Given the description of an element on the screen output the (x, y) to click on. 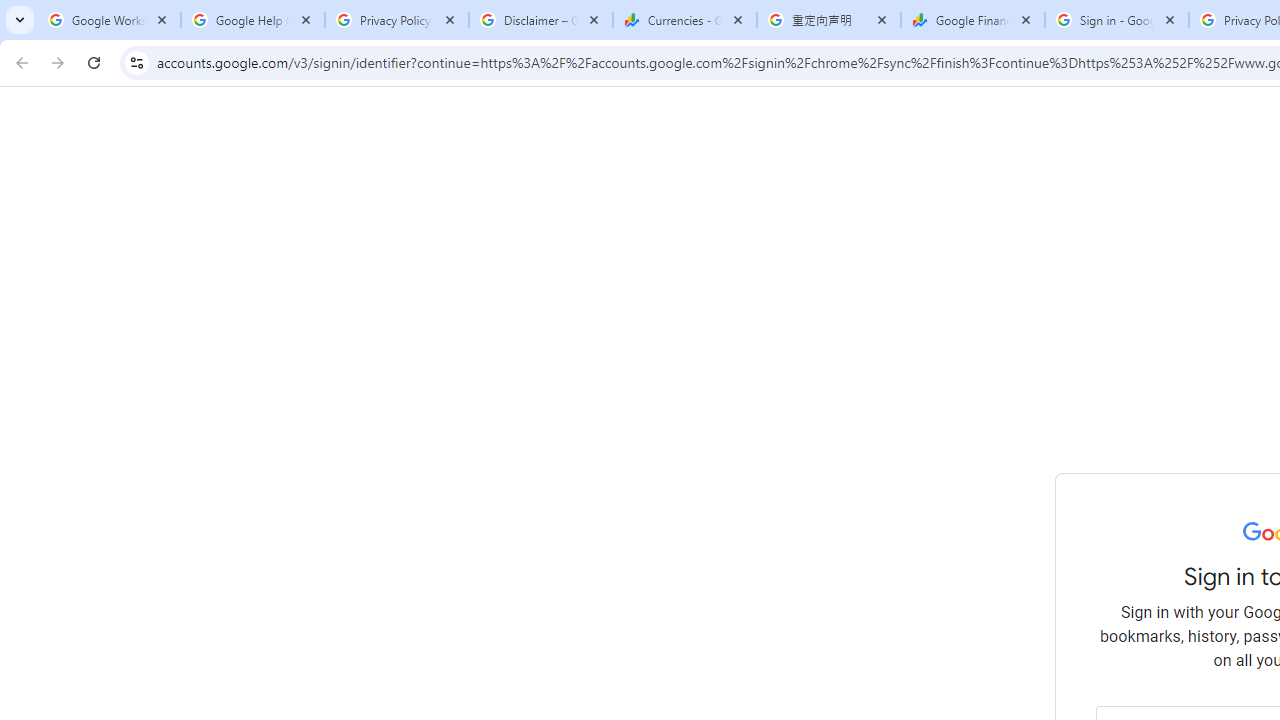
Sign in - Google Accounts (1116, 20)
Google Workspace Admin Community (108, 20)
Currencies - Google Finance (684, 20)
